Given the description of an element on the screen output the (x, y) to click on. 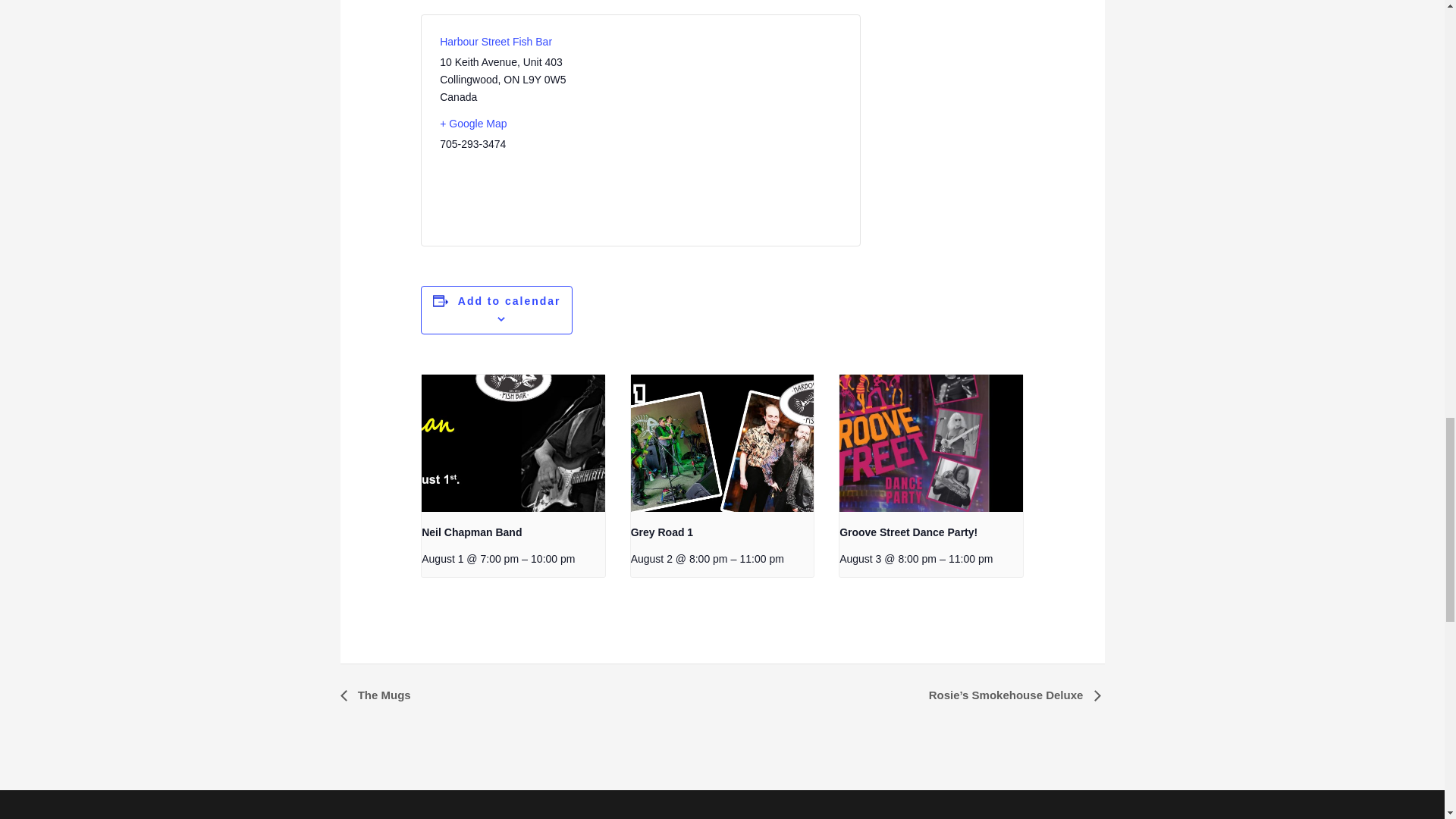
Harbour Street Fish Bar (495, 41)
Grey Road 1 (661, 532)
Click to view a Google Map (533, 123)
The Mugs (379, 694)
Neil Chapman Band (471, 532)
ON (511, 79)
Add to calendar (509, 300)
Groove Street Dance Party! (908, 532)
Harbour Street Fish Bar (495, 41)
